Given the description of an element on the screen output the (x, y) to click on. 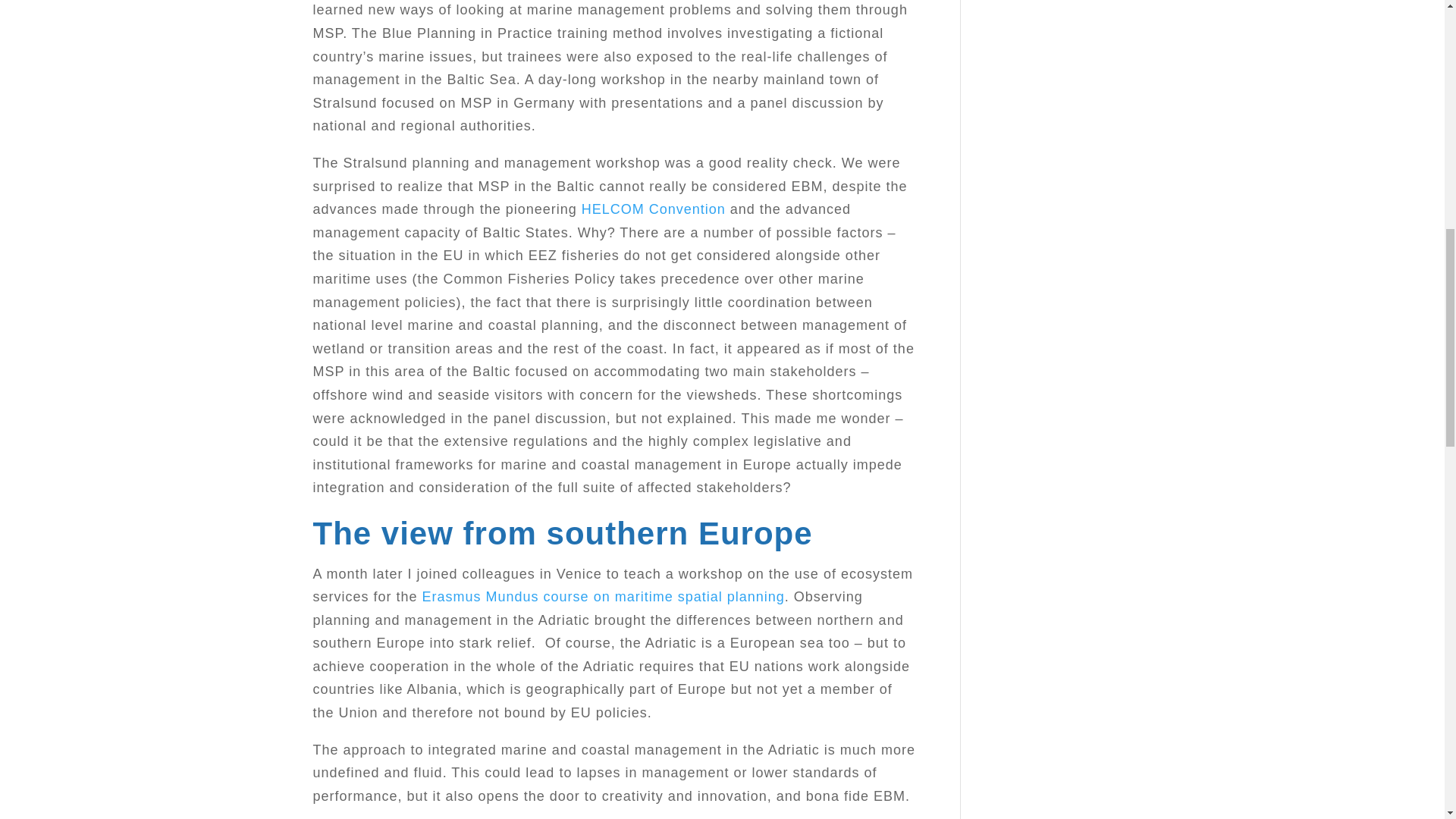
HELCOM Convention (652, 209)
Erasmus Mundus course on maritime spatial planning (603, 596)
